Given the description of an element on the screen output the (x, y) to click on. 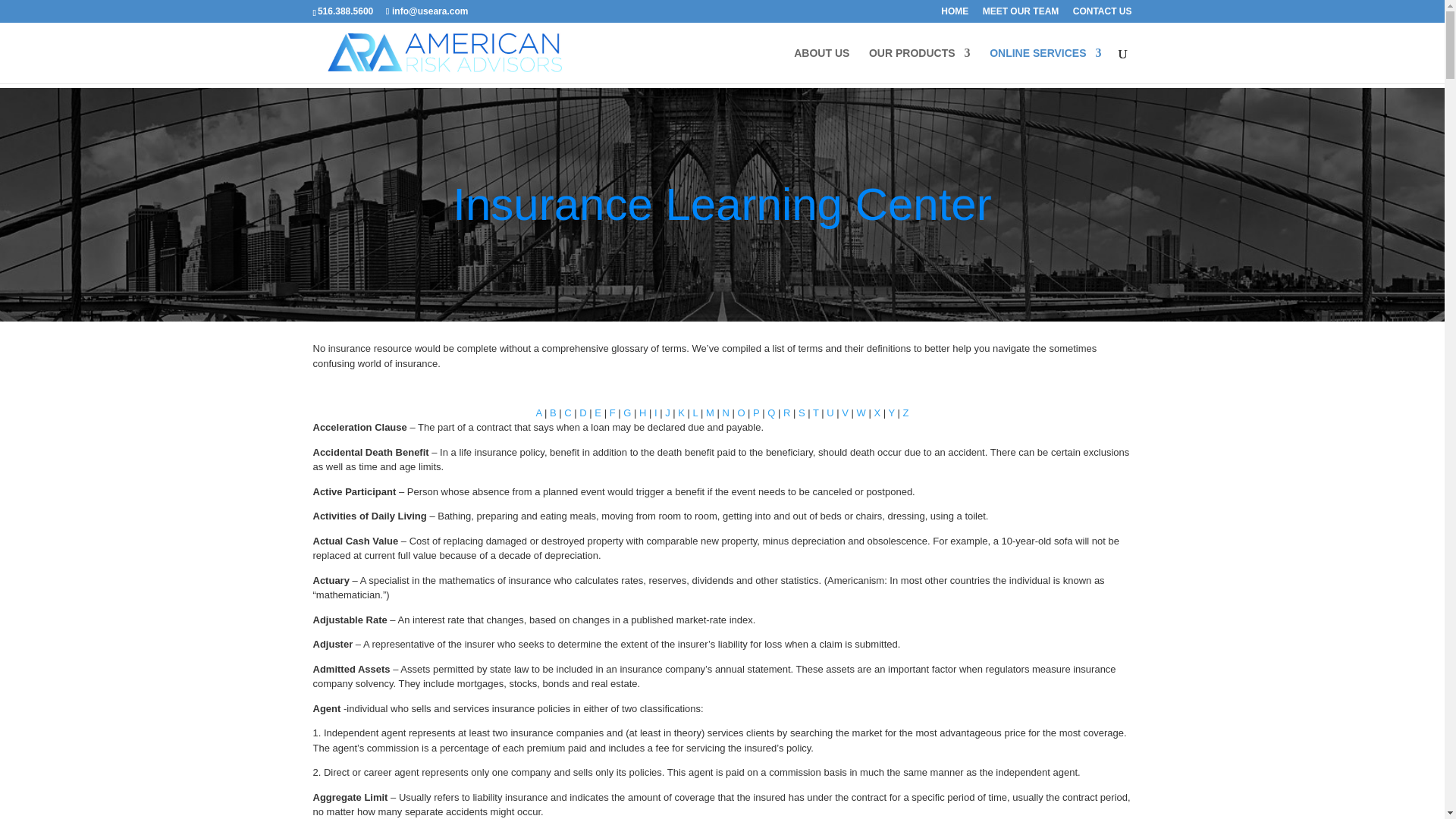
ONLINE SERVICES (1045, 65)
MEET OUR TEAM (1020, 14)
ABOUT US (820, 65)
OUR PRODUCTS (920, 65)
CONTACT US (1102, 14)
HOME (954, 14)
